Given the description of an element on the screen output the (x, y) to click on. 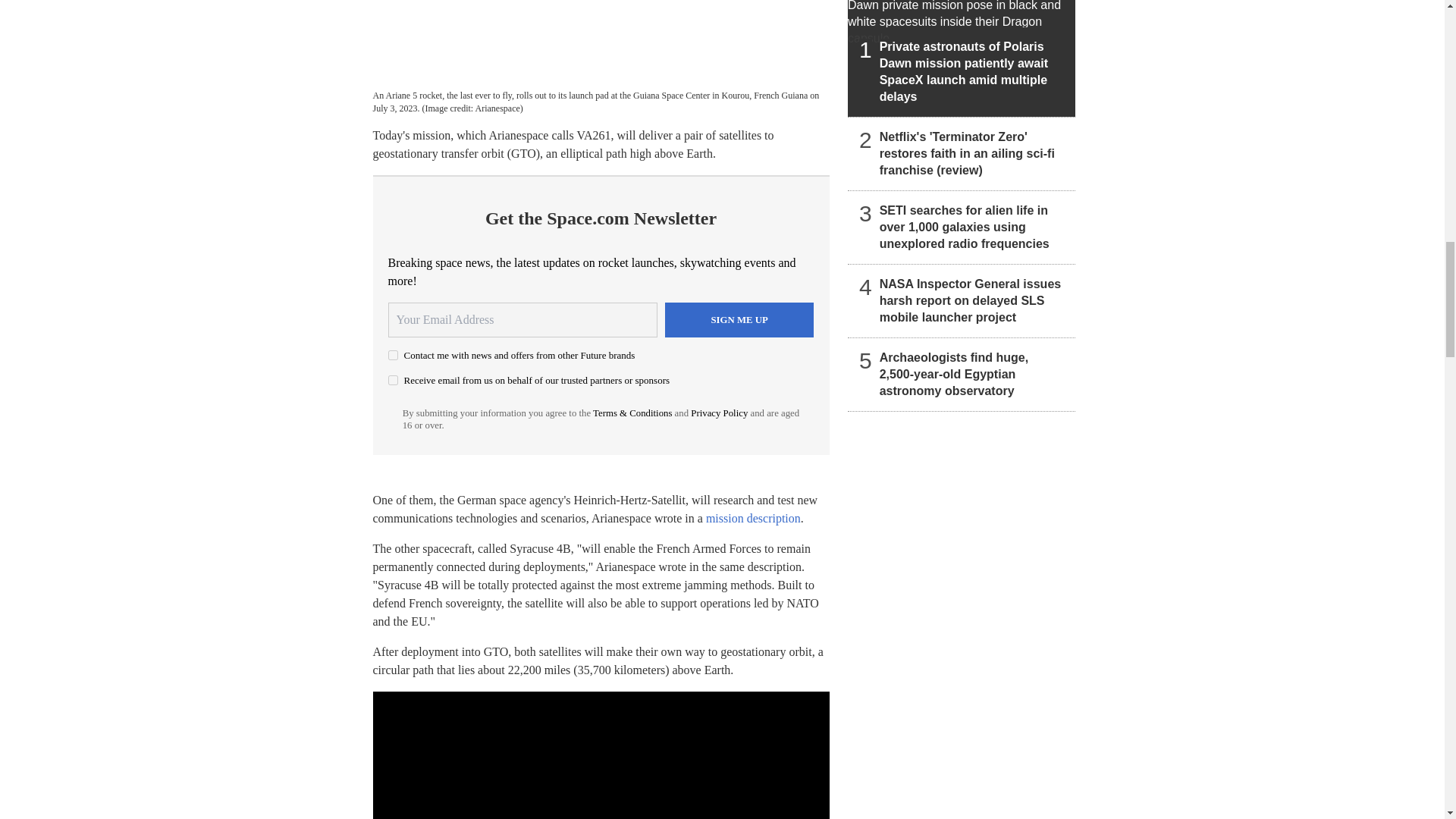
on (392, 379)
Sign me up (739, 319)
on (392, 355)
